Given the description of an element on the screen output the (x, y) to click on. 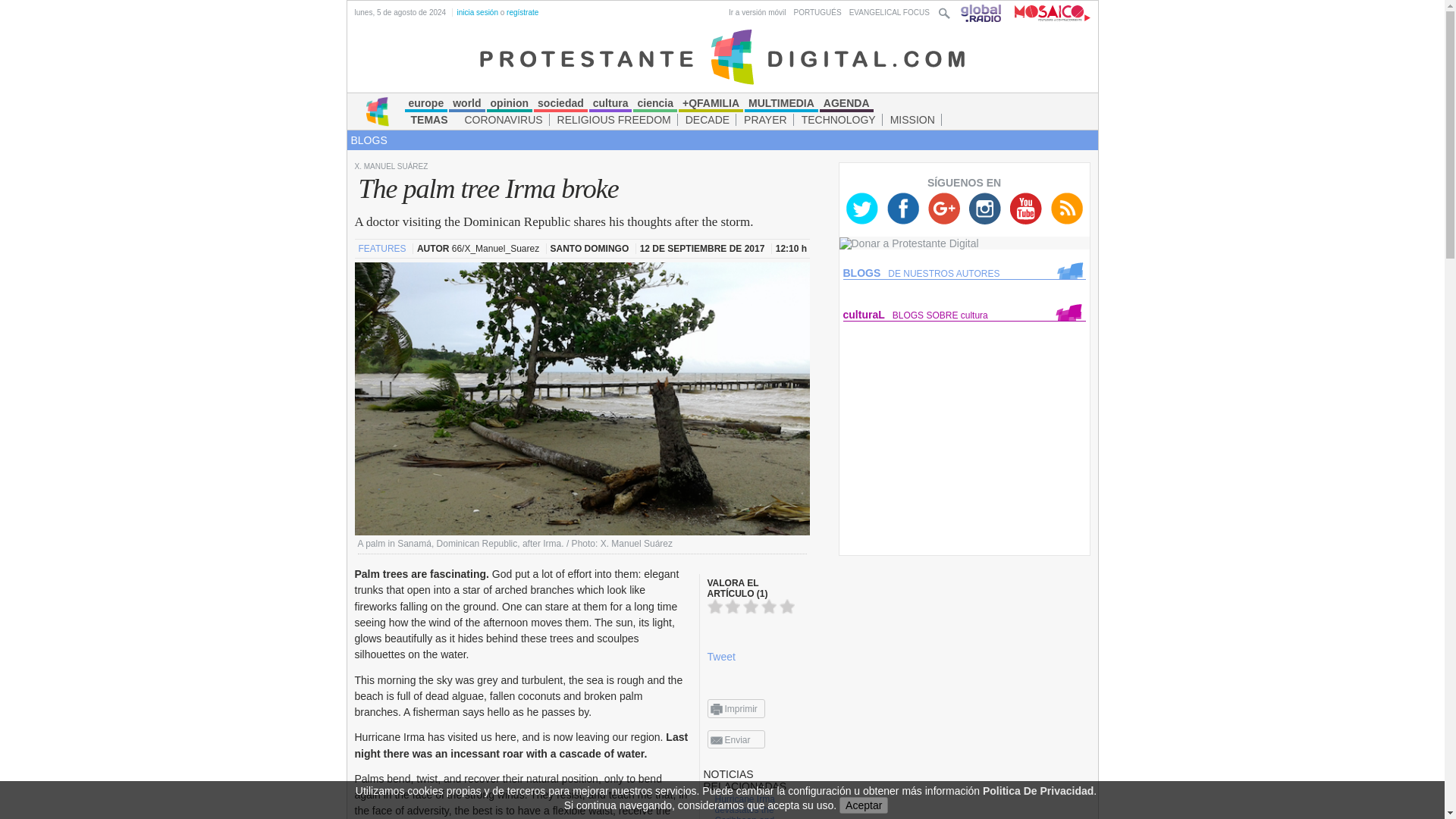
Tweet (720, 656)
BLOGS (368, 140)
FEATURES (382, 248)
